Given the description of an element on the screen output the (x, y) to click on. 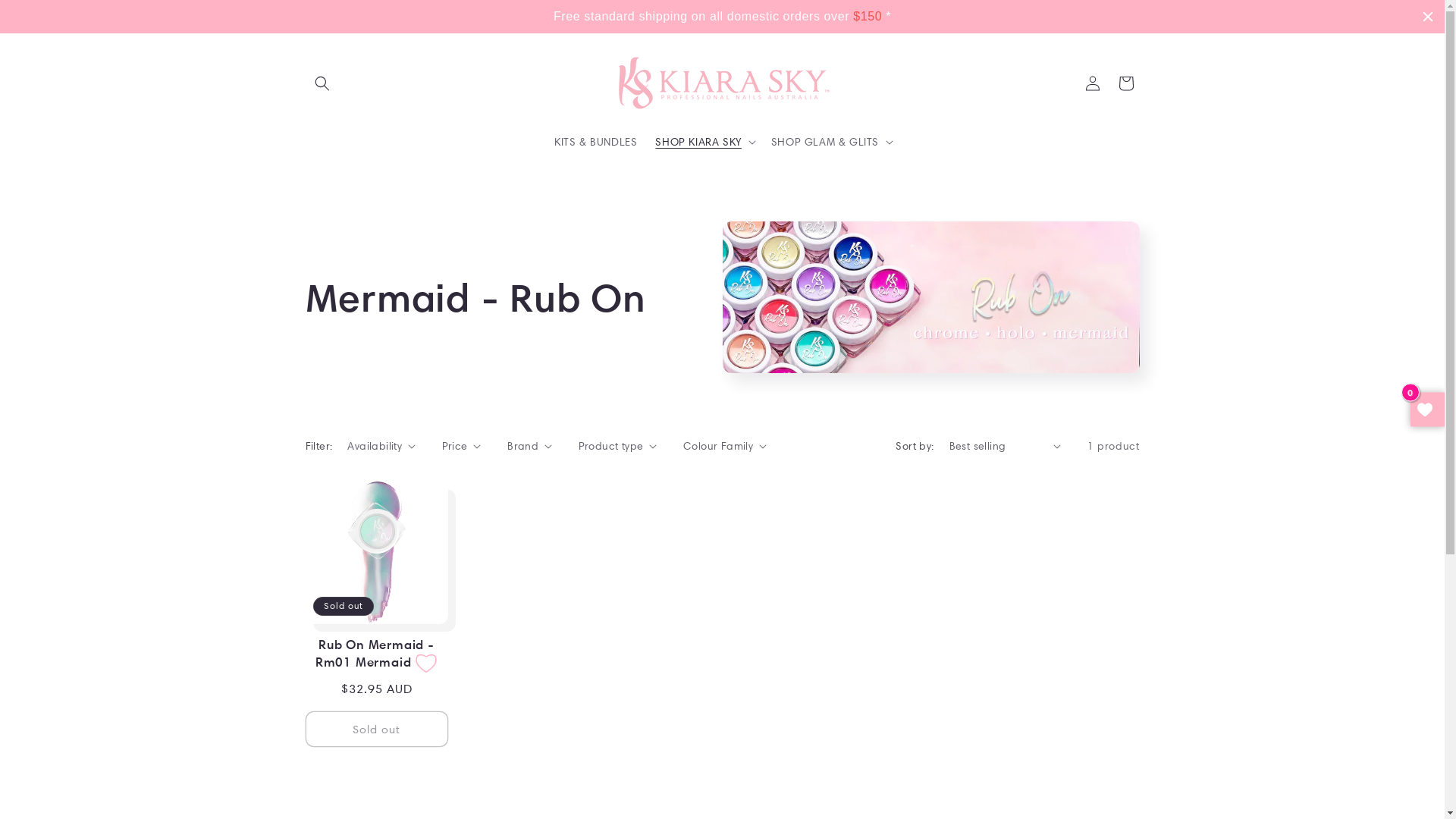
Log in Element type: text (1091, 83)
KITS & BUNDLES Element type: text (595, 141)
Sold out Element type: text (375, 728)
Cart Element type: text (1125, 83)
Rub On Mermaid - Rm01 Mermaid Element type: text (374, 653)
My Wishlist Element type: text (1427, 409)
Add to Wishlist Element type: hover (425, 663)
